Given the description of an element on the screen output the (x, y) to click on. 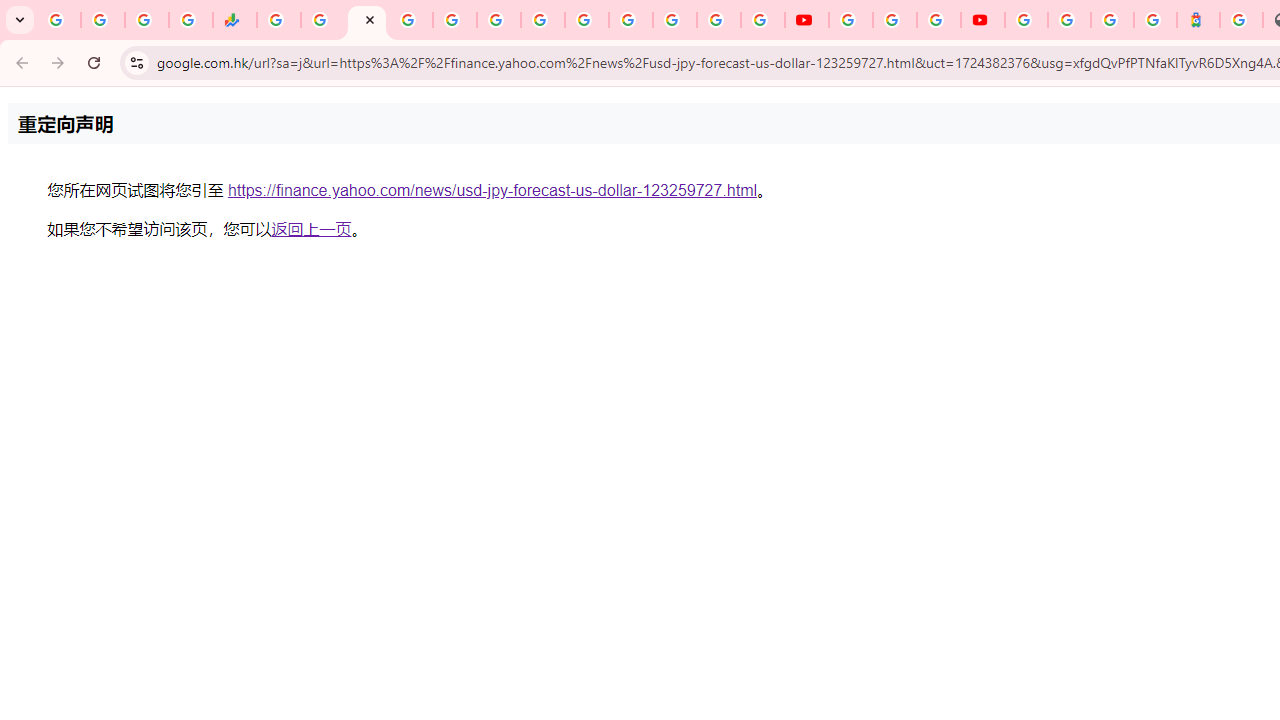
Google Workspace Admin Community (58, 20)
Privacy Checkup (762, 20)
